Given the description of an element on the screen output the (x, y) to click on. 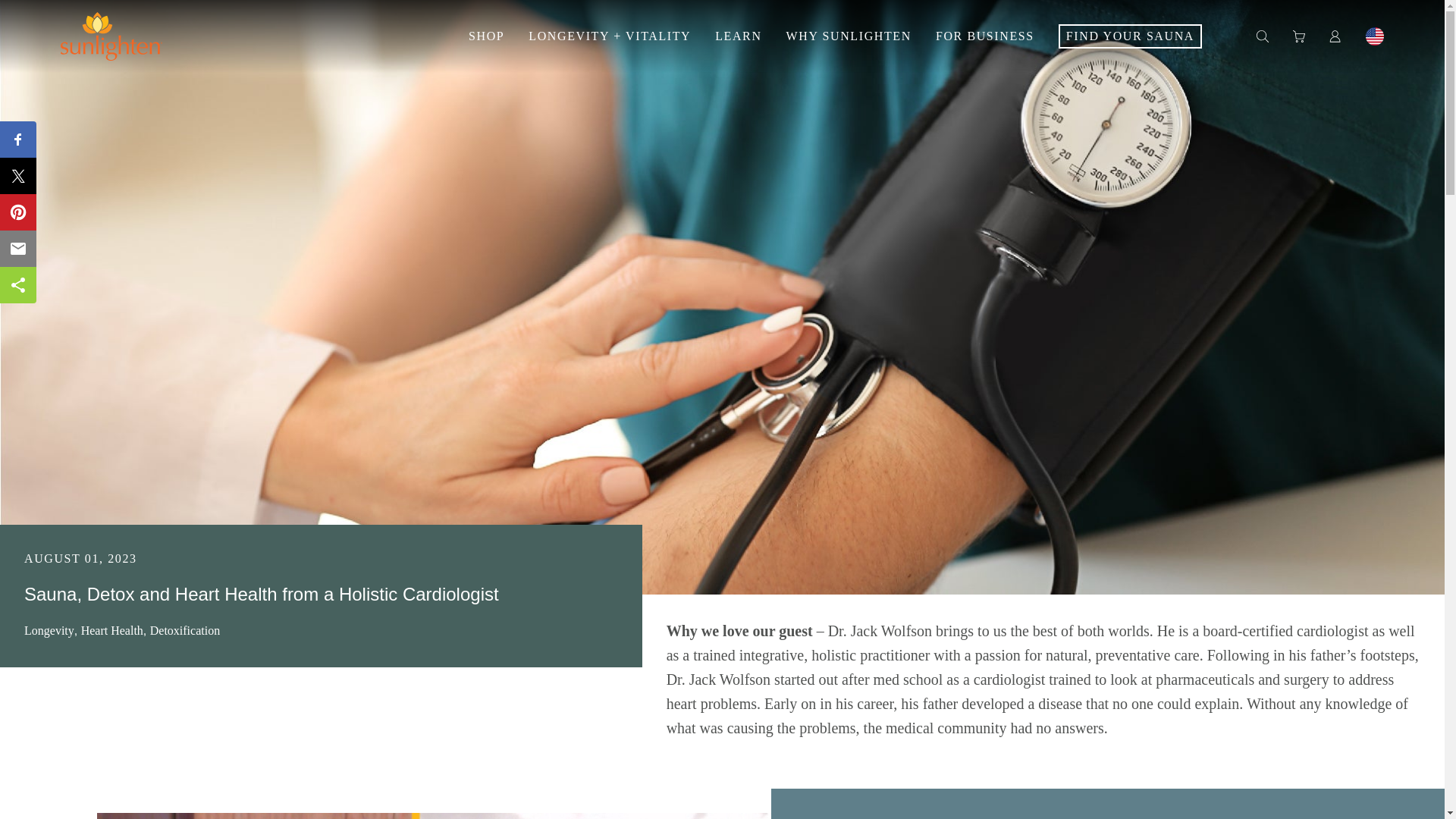
FIND YOUR SAUNA (1129, 35)
SHOP ACCESSORIES (1298, 36)
SAUNA LOGIN (1334, 36)
